Given the description of an element on the screen output the (x, y) to click on. 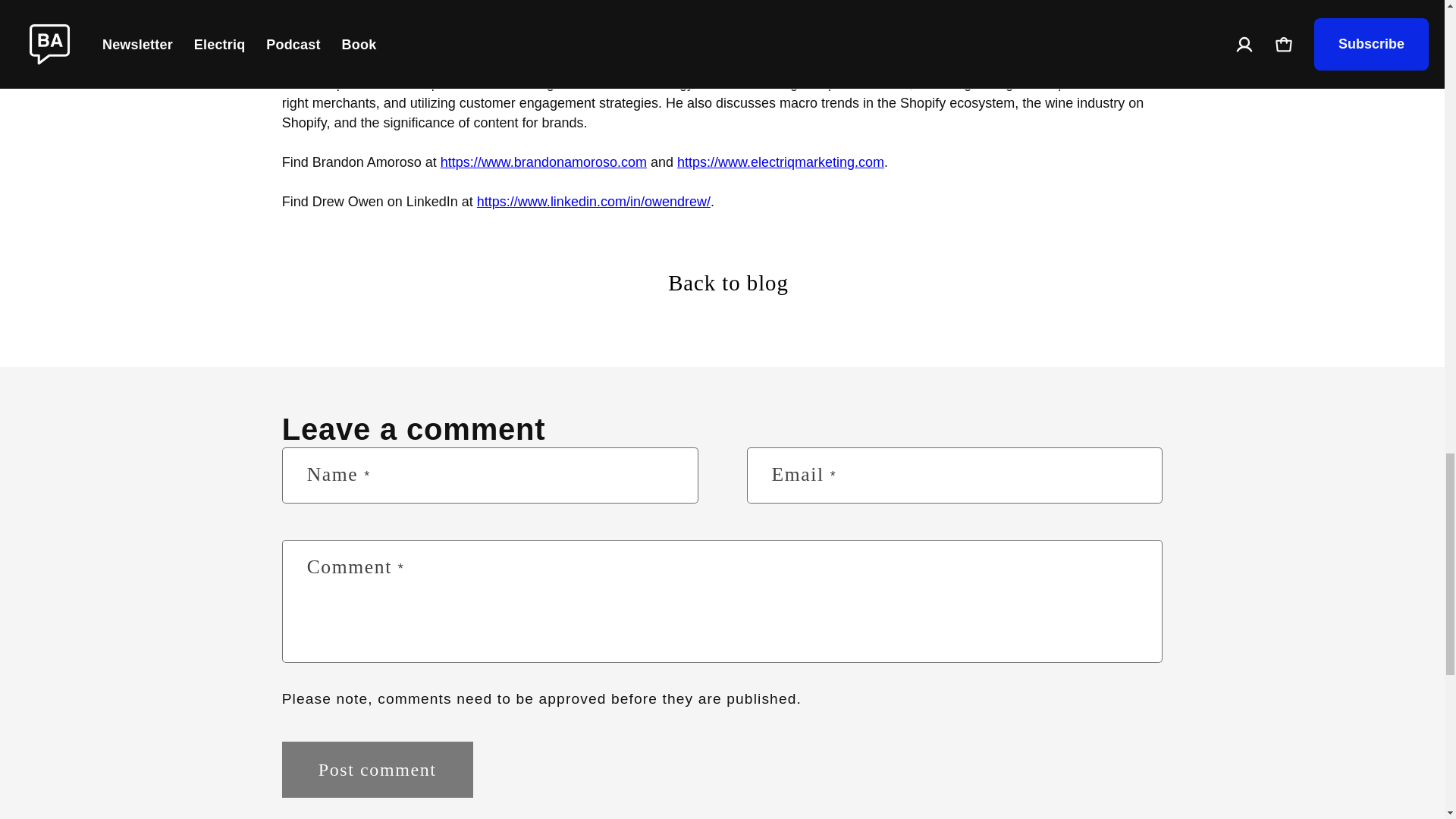
Post comment (377, 769)
Post comment (377, 769)
